Given the description of an element on the screen output the (x, y) to click on. 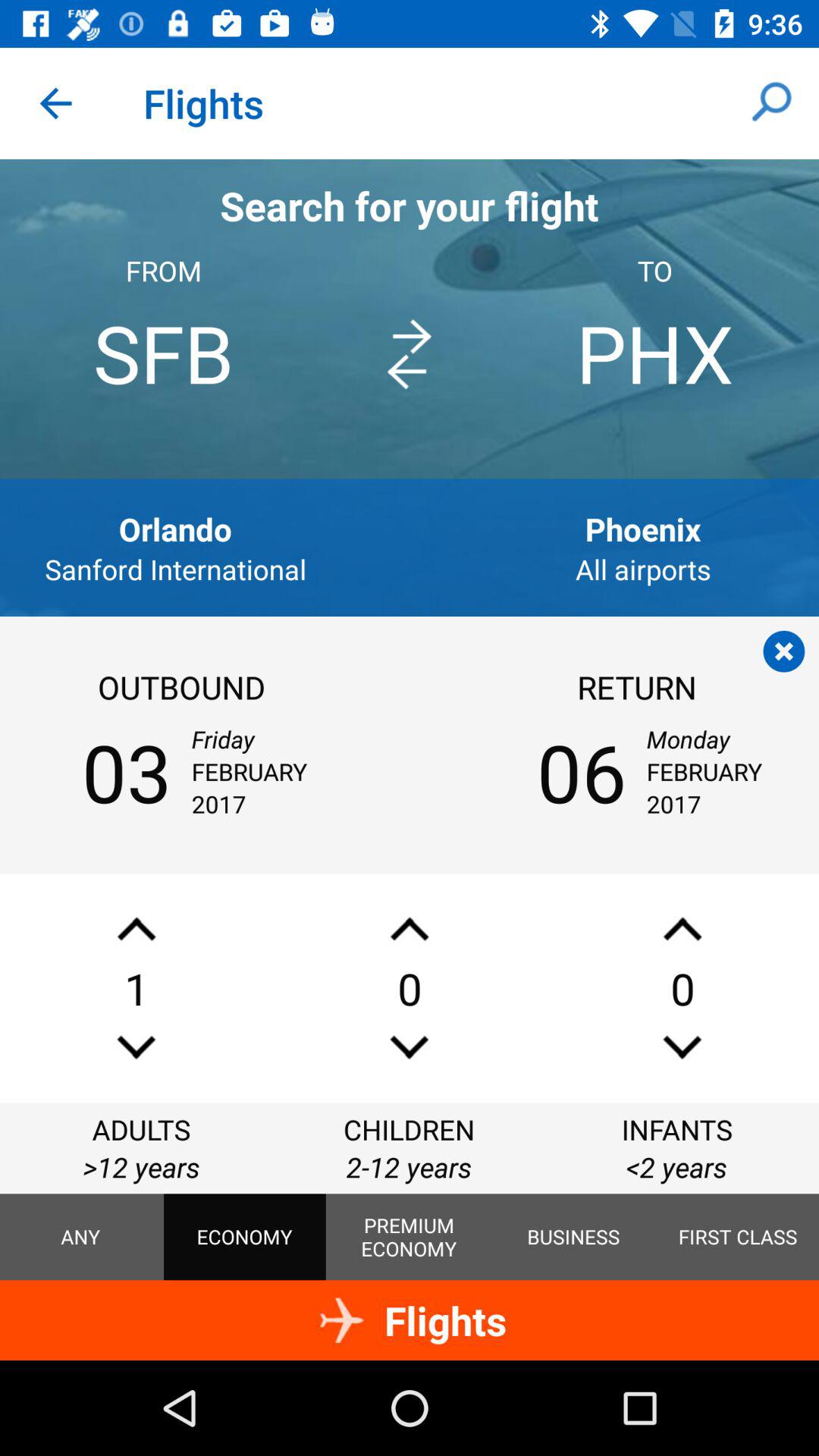
select the item to the left of phx icon (408, 354)
